Given the description of an element on the screen output the (x, y) to click on. 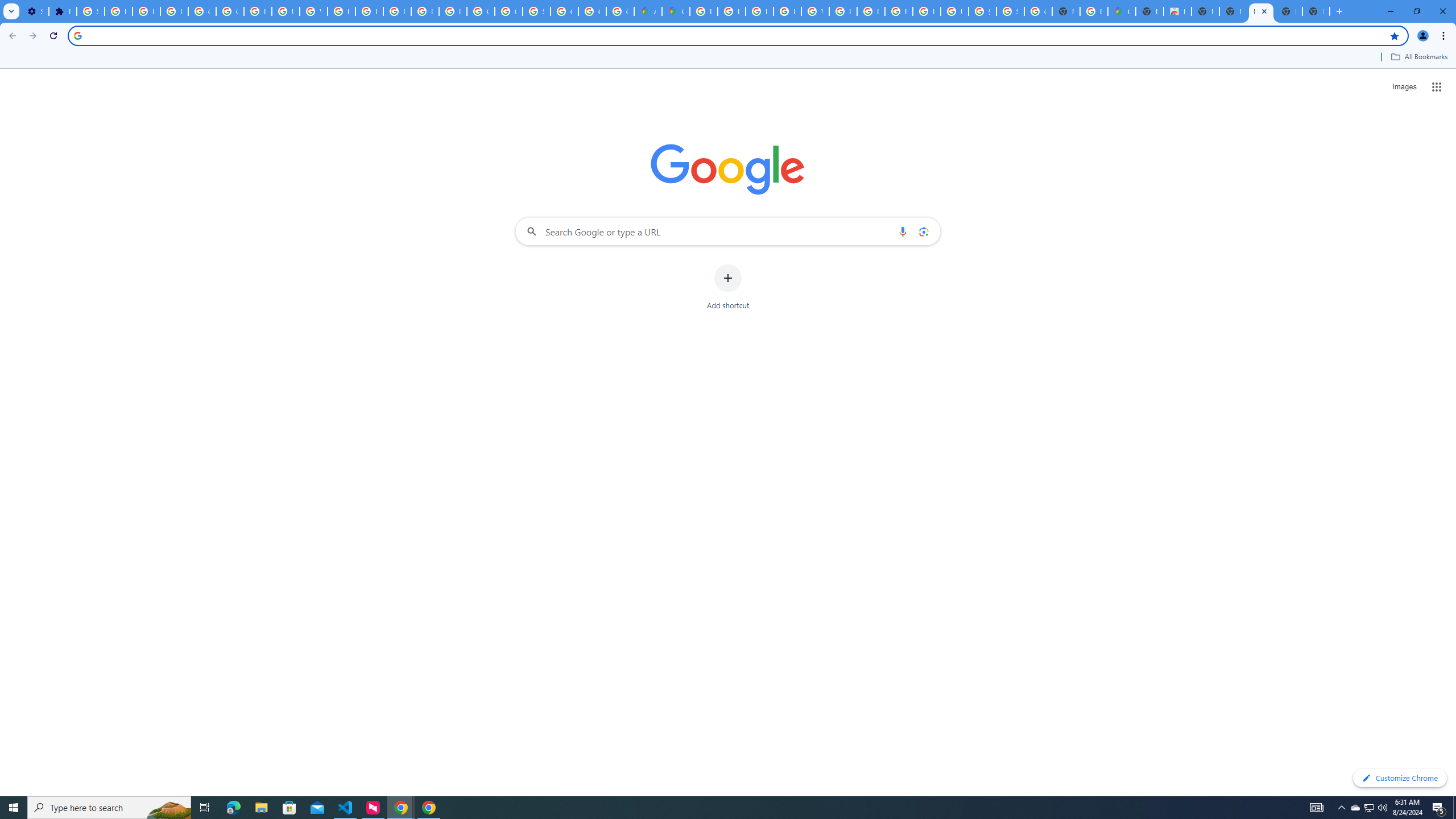
YouTube (815, 11)
YouTube (313, 11)
Settings - On startup (34, 11)
Create your Google Account (620, 11)
https://scholar.google.com/ (341, 11)
